Given the description of an element on the screen output the (x, y) to click on. 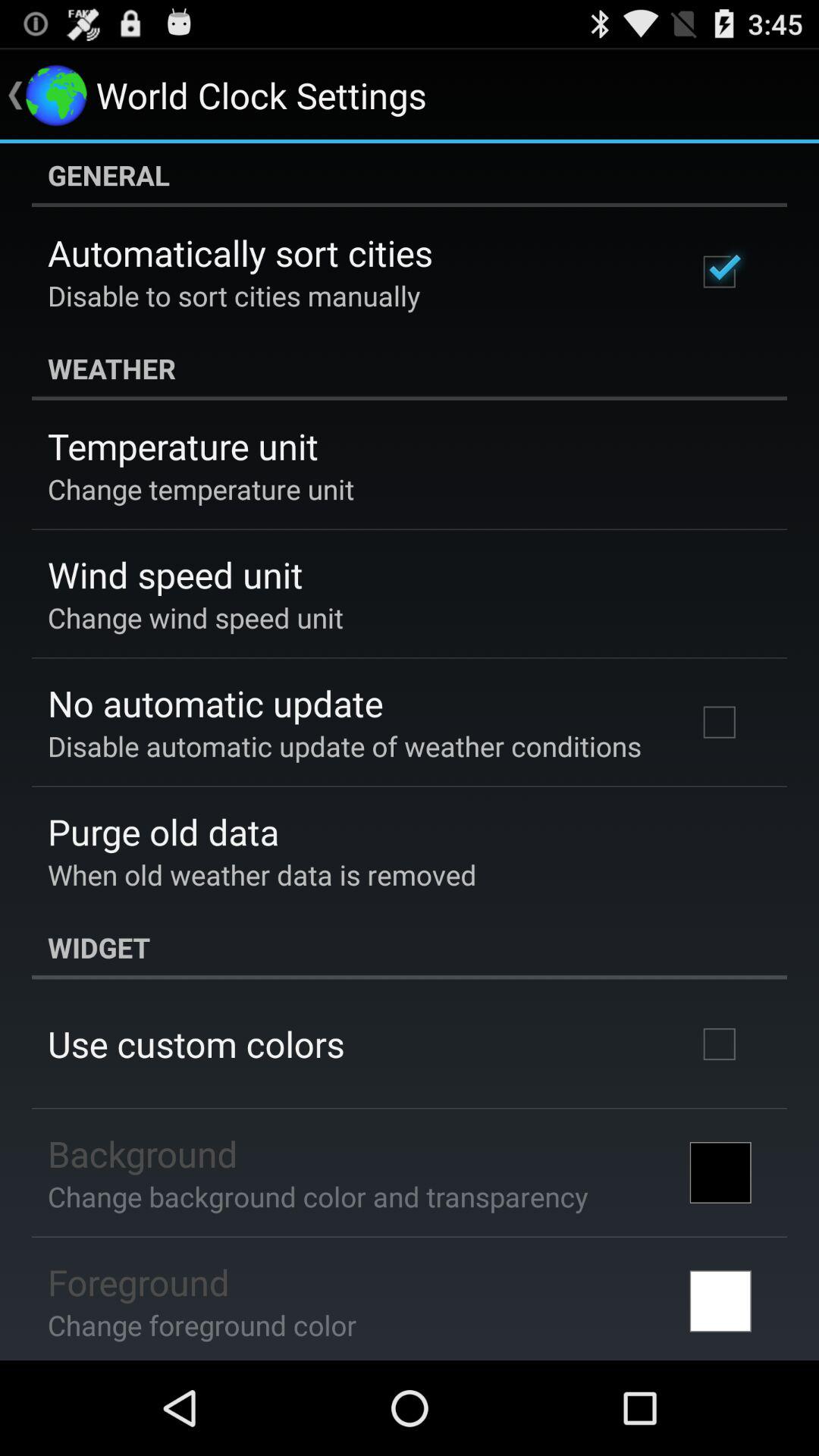
turn off icon to the right of the change foreground color app (720, 1301)
